Given the description of an element on the screen output the (x, y) to click on. 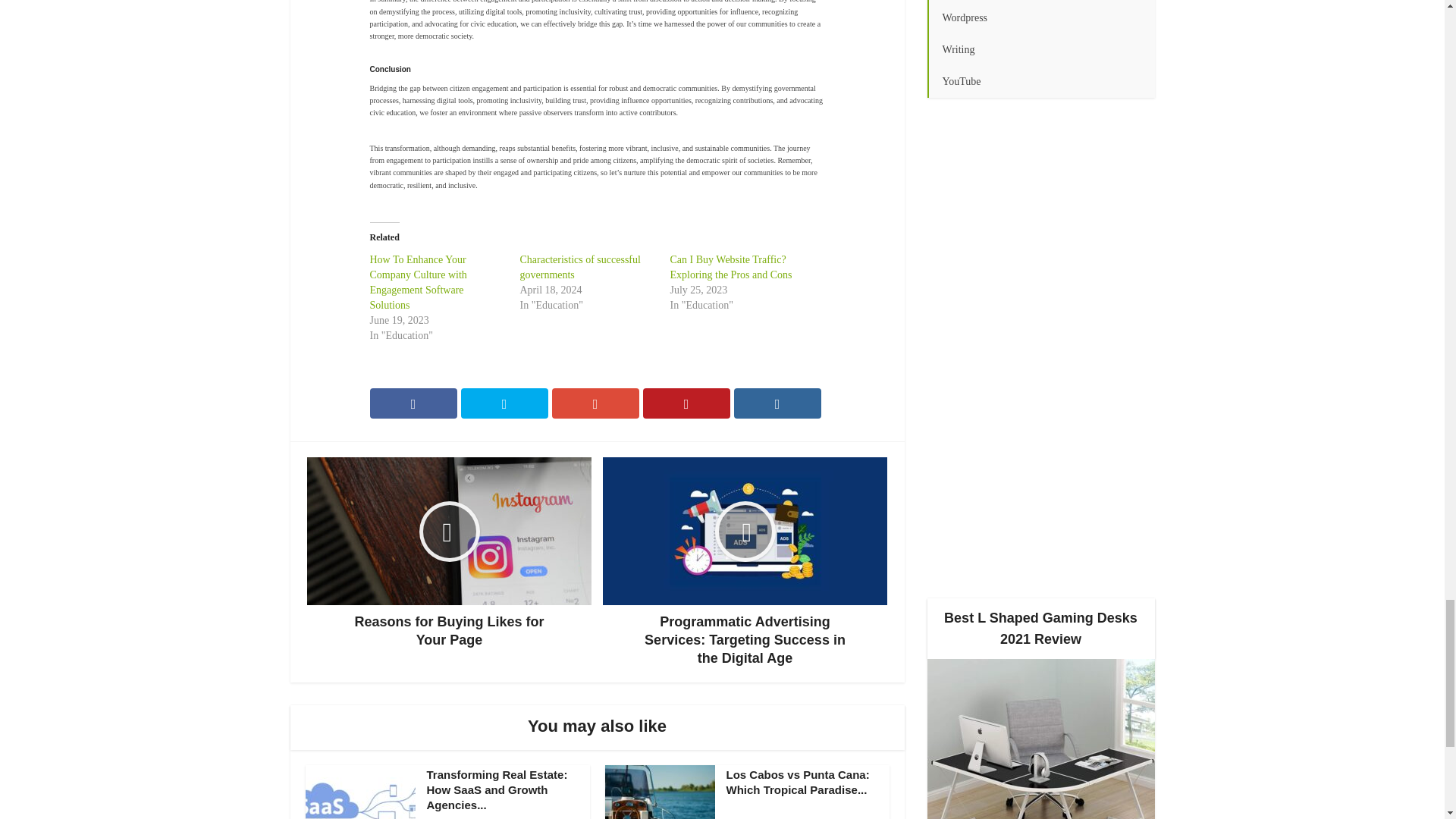
Characteristics of successful governments (579, 266)
Los Cabos vs Punta Cana: Which Tropical Paradise... (797, 782)
Characteristics of successful governments (579, 266)
Transforming Real Estate: How SaaS and Growth Agencies... (496, 790)
Reasons for Buying Likes for Your Page (449, 553)
Can I Buy Website Traffic? Exploring the Pros and Cons (730, 266)
Can I Buy Website Traffic? Exploring the Pros and Cons (730, 266)
